Given the description of an element on the screen output the (x, y) to click on. 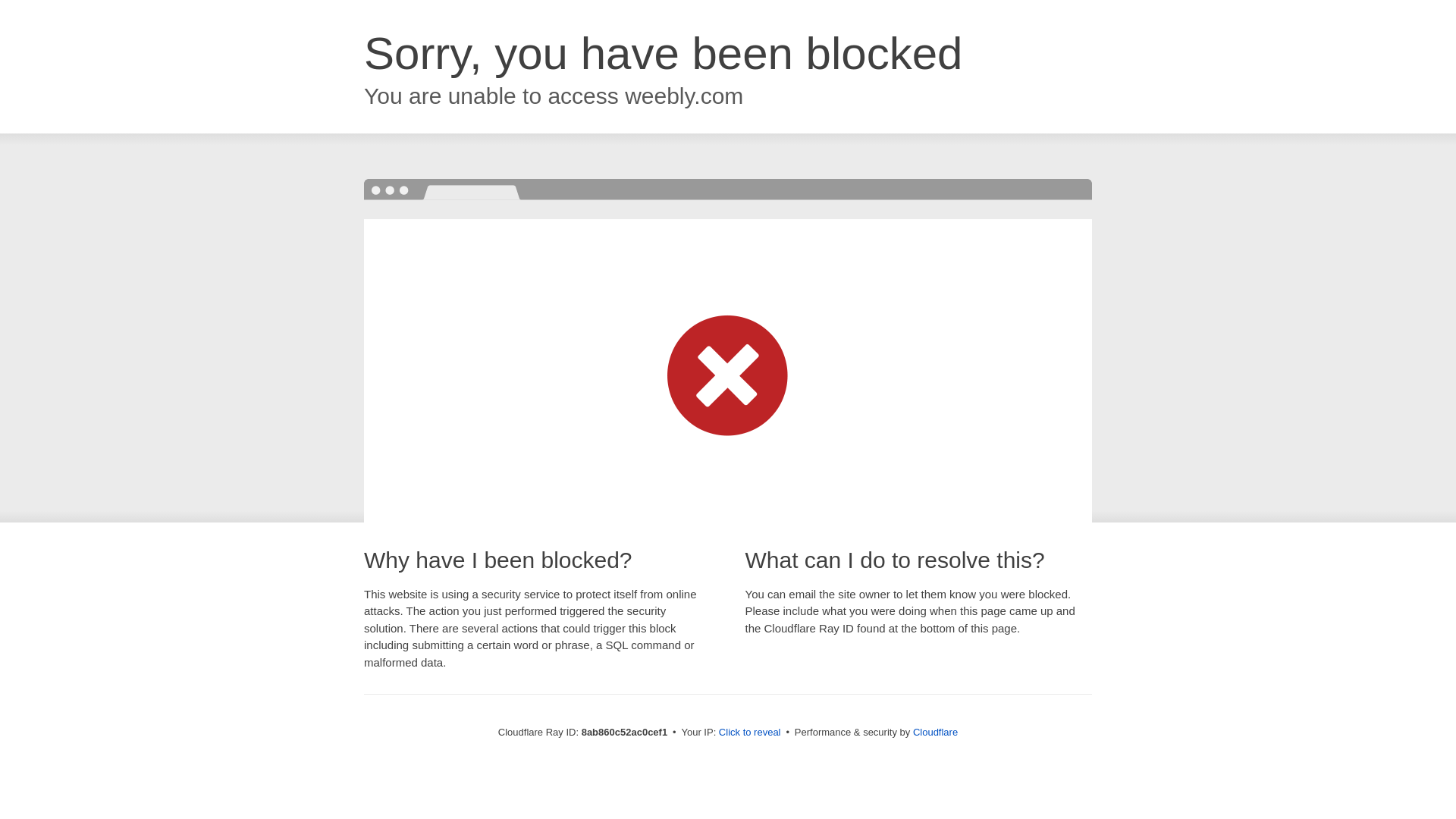
Click to reveal (749, 732)
Cloudflare (935, 731)
